Given the description of an element on the screen output the (x, y) to click on. 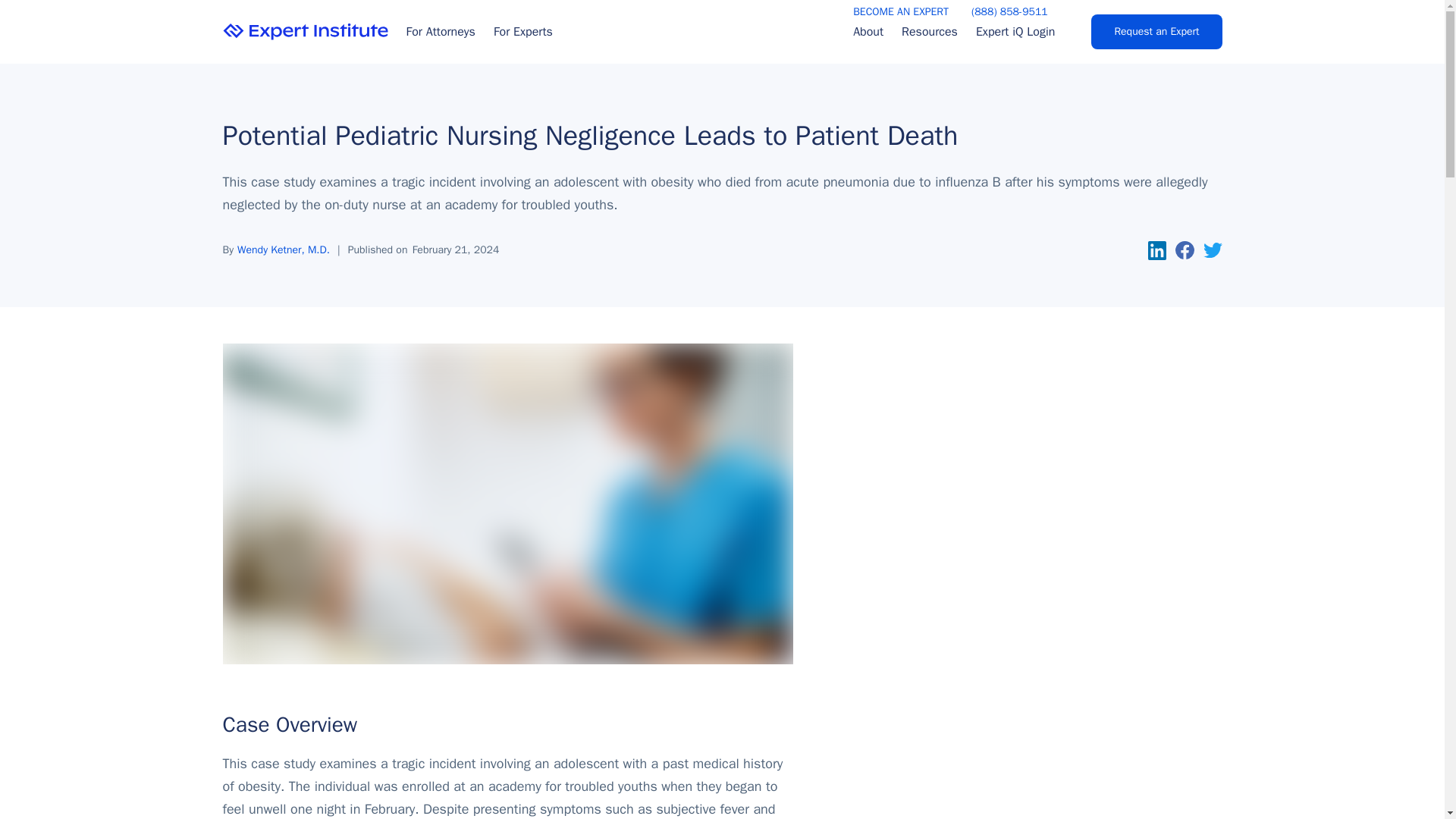
BECOME AN EXPERT (901, 11)
Wendy Ketner, M.D. (283, 249)
Request an Expert (1155, 31)
